Given the description of an element on the screen output the (x, y) to click on. 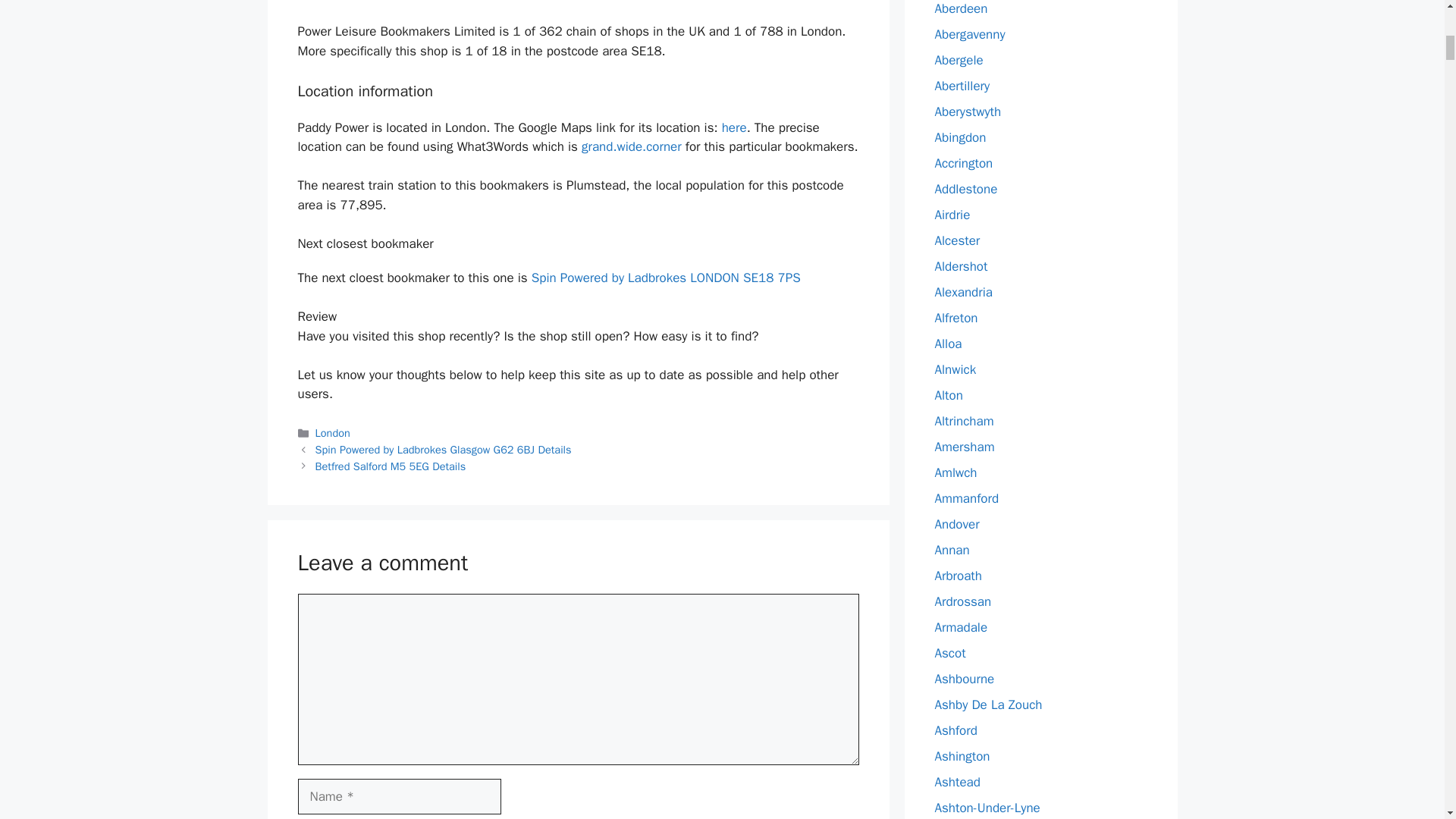
Airdrie (951, 214)
Abergele (958, 59)
Spin Powered by Ladbrokes Glasgow G62 6BJ Details (443, 449)
Alcester (956, 240)
Betfred Salford M5 5EG Details (390, 466)
Amersham (964, 446)
Aberystwyth (967, 111)
grand.wide.corner (630, 146)
Alton (948, 395)
Spin Powered by Ladbrokes LONDON SE18 7PS (665, 277)
Abertillery (962, 85)
Abingdon (959, 137)
Alloa (947, 343)
Abergavenny (969, 34)
Alfreton (955, 317)
